Given the description of an element on the screen output the (x, y) to click on. 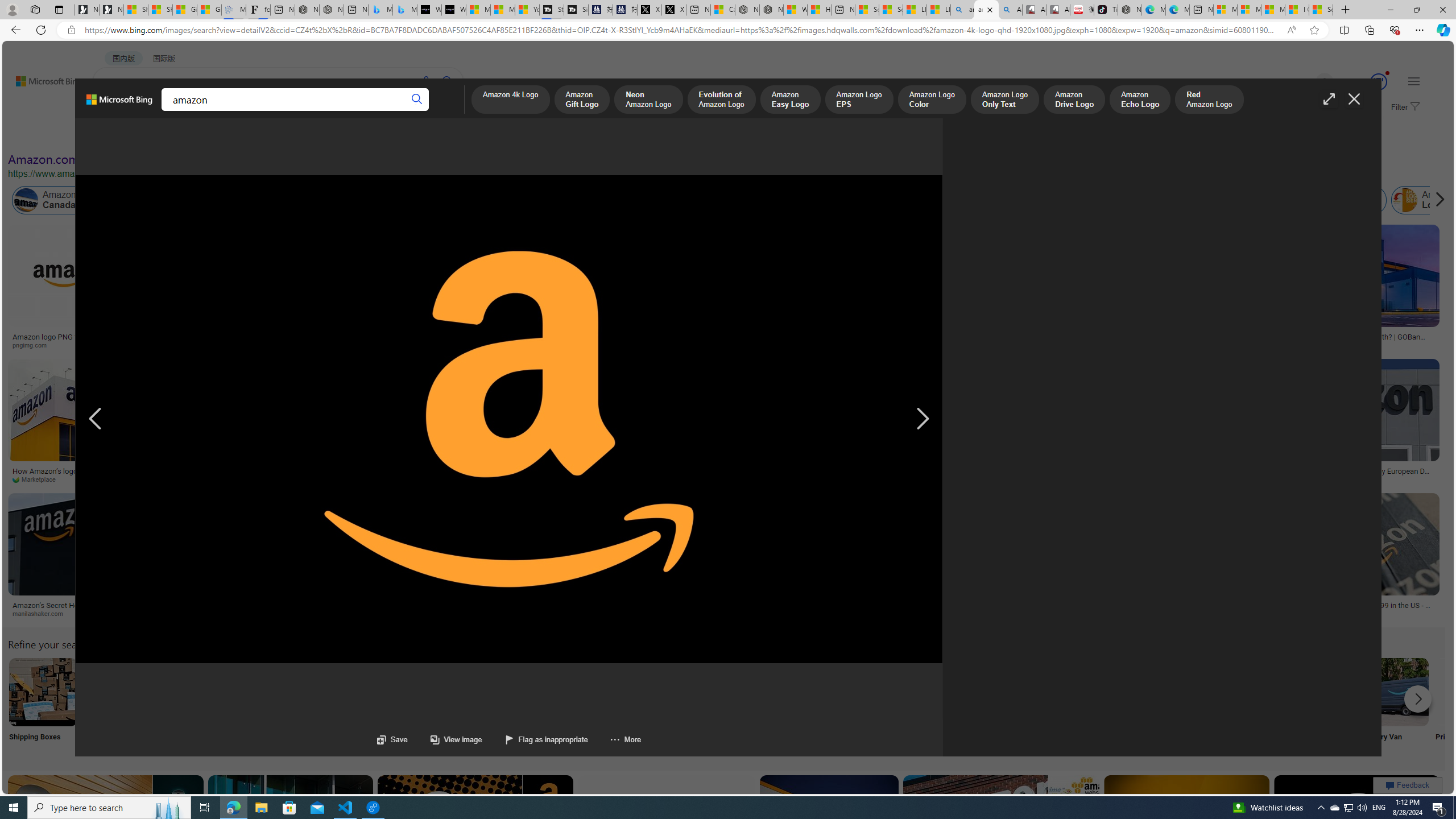
Log into My Account (268, 706)
Amazon Prime Shopping Online Prime Shopping Online (944, 706)
aiophotoz.com (1170, 479)
Amazon.com.au (881, 200)
usatoday.com (309, 344)
People (295, 135)
Visa Card Login (1093, 706)
Scroll right (1436, 199)
View image (455, 739)
